Given the description of an element on the screen output the (x, y) to click on. 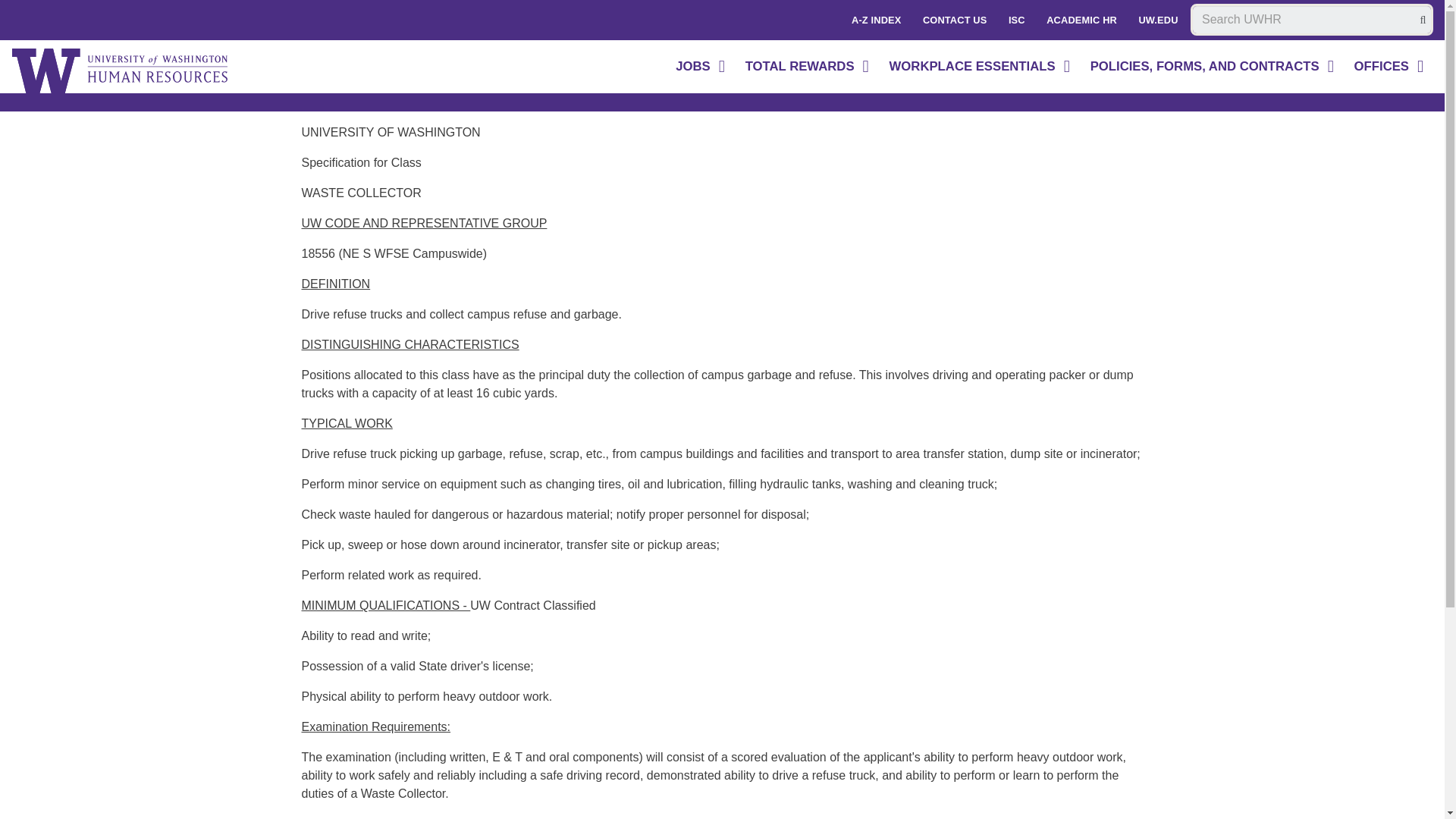
Search for: (1311, 20)
WORKPLACE ESSENTIALS (981, 66)
TOTAL REWARDS (807, 66)
ACADEMIC HR (1080, 19)
A-Z INDEX (876, 19)
University of Washington Human Resources Home (120, 70)
University of Washington Human Resources Home (120, 70)
JOBS (701, 66)
UW.EDU (1157, 19)
CONTACT US (954, 19)
ISC (1015, 19)
